Given the description of an element on the screen output the (x, y) to click on. 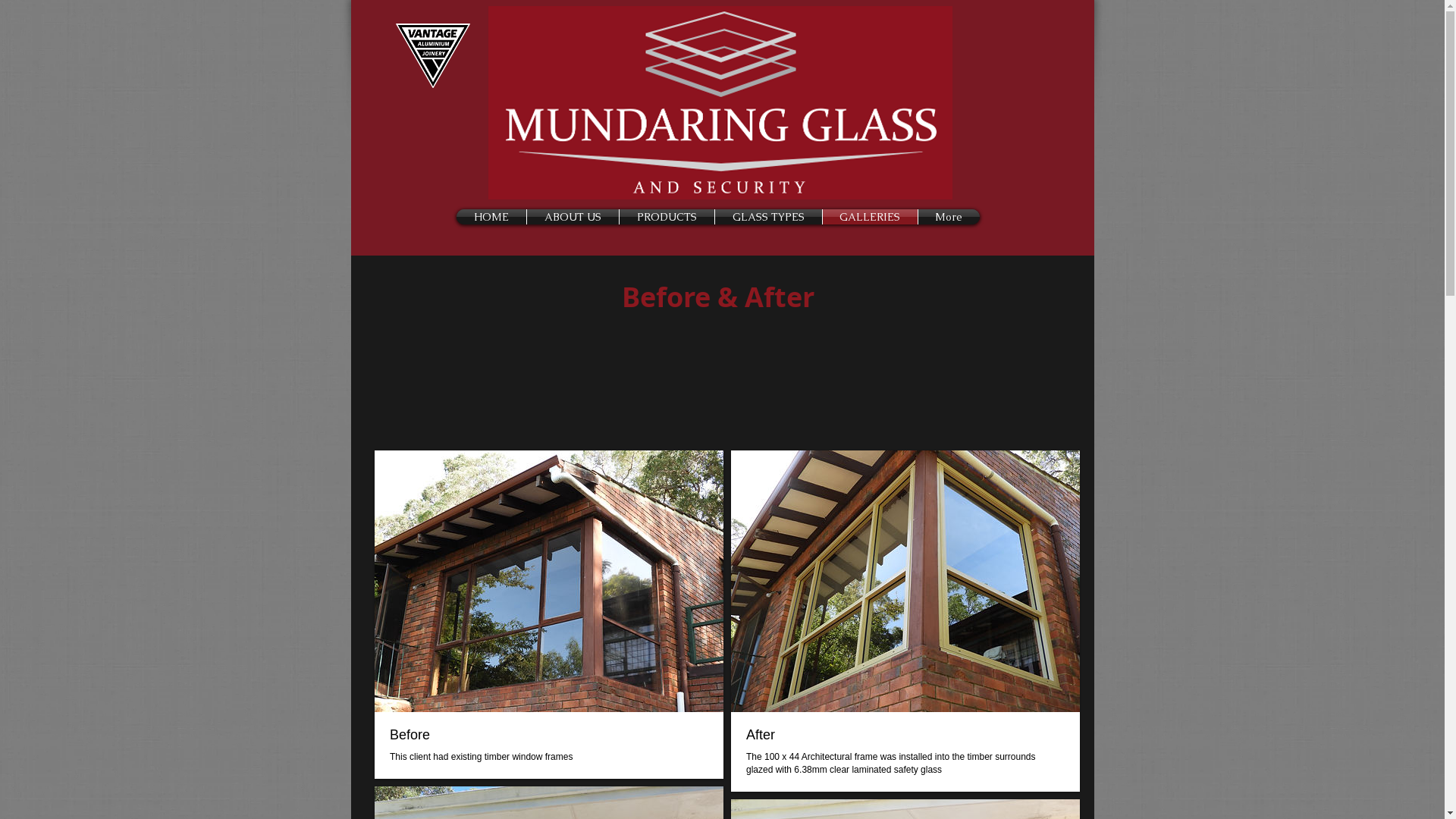
MG-main-header-nw.png Element type: hover (720, 102)
GALLERIES Element type: text (869, 216)
GLASS TYPES Element type: text (767, 216)
HOME Element type: text (491, 216)
ABOUT US Element type: text (572, 216)
PRODUCTS Element type: text (665, 216)
